Given the description of an element on the screen output the (x, y) to click on. 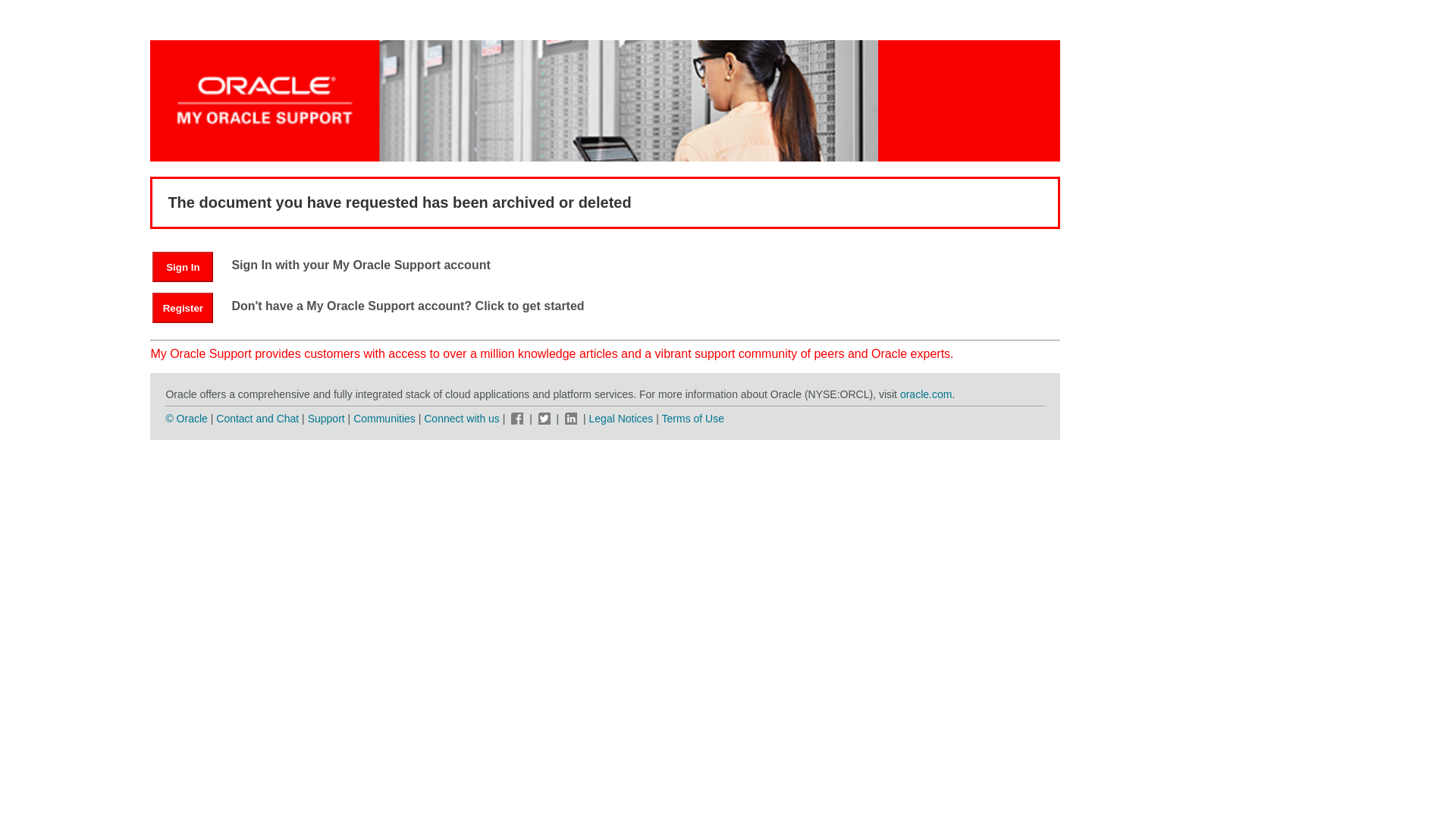
Legal Notices (621, 418)
Sign In (182, 266)
Register (190, 307)
Terms of Use (692, 418)
Support (326, 418)
Connect with us (462, 418)
oracle.com (925, 394)
Contact and Chat (256, 418)
Sign In (190, 266)
Register (182, 307)
